Given the description of an element on the screen output the (x, y) to click on. 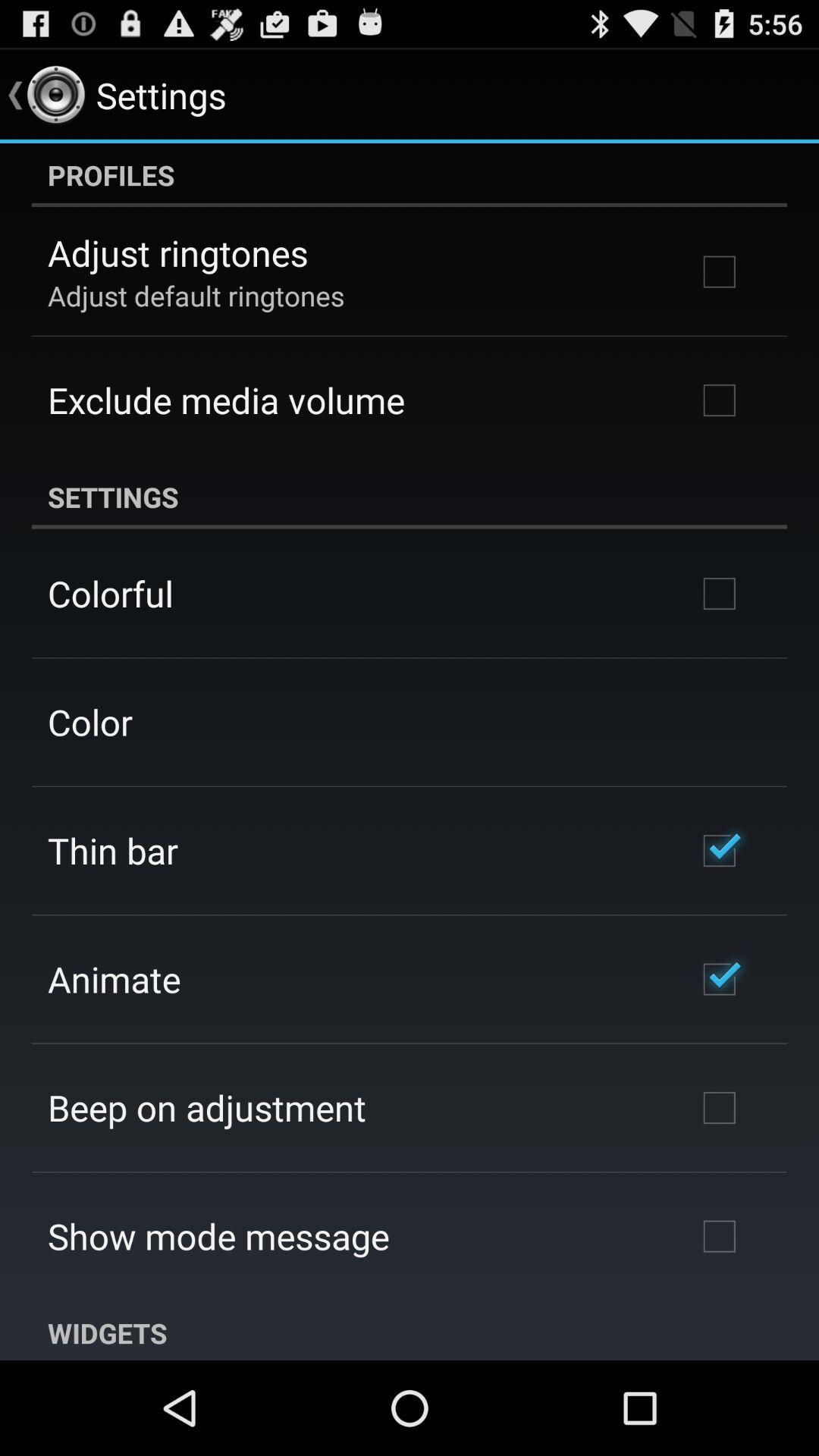
select item below the beep on adjustment (218, 1236)
